Given the description of an element on the screen output the (x, y) to click on. 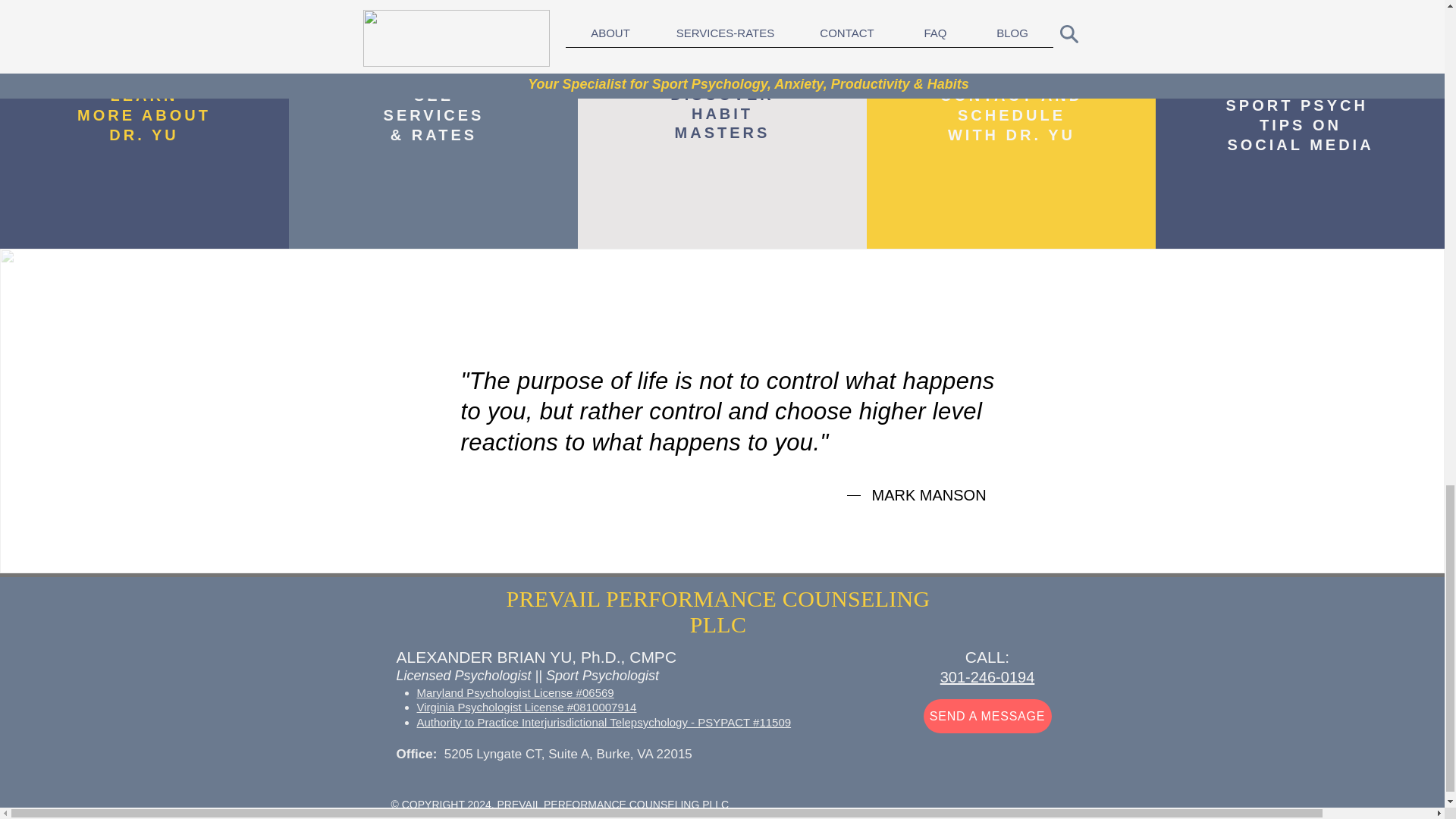
SEND A MESSAGE (144, 114)
301-246-0194 (987, 716)
PREVAIL PERFORMANCE COUNSELING PLLC (1011, 114)
Virginia Psychologist License (987, 677)
